Given the description of an element on the screen output the (x, y) to click on. 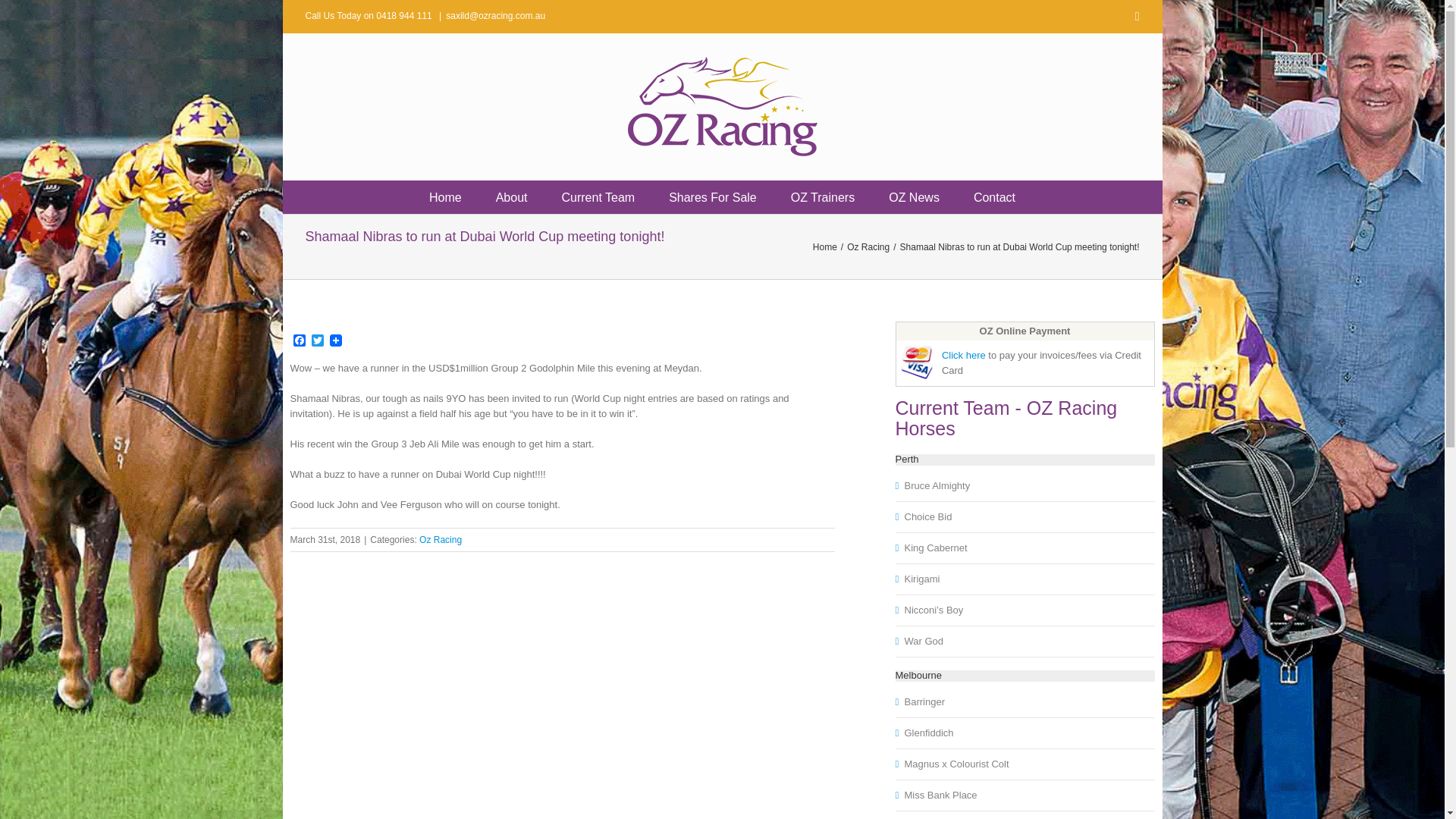
Kirigami (923, 578)
OZ News (913, 196)
About (511, 196)
Current Team (597, 196)
Glenfiddich (930, 732)
Contact (994, 196)
King Cabernet (937, 547)
Home (445, 196)
Barringer (925, 701)
Facebook (298, 341)
Bruce Almighty (939, 485)
Facebook (298, 341)
Twitter (316, 341)
Click here (963, 355)
Home (824, 245)
